Given the description of an element on the screen output the (x, y) to click on. 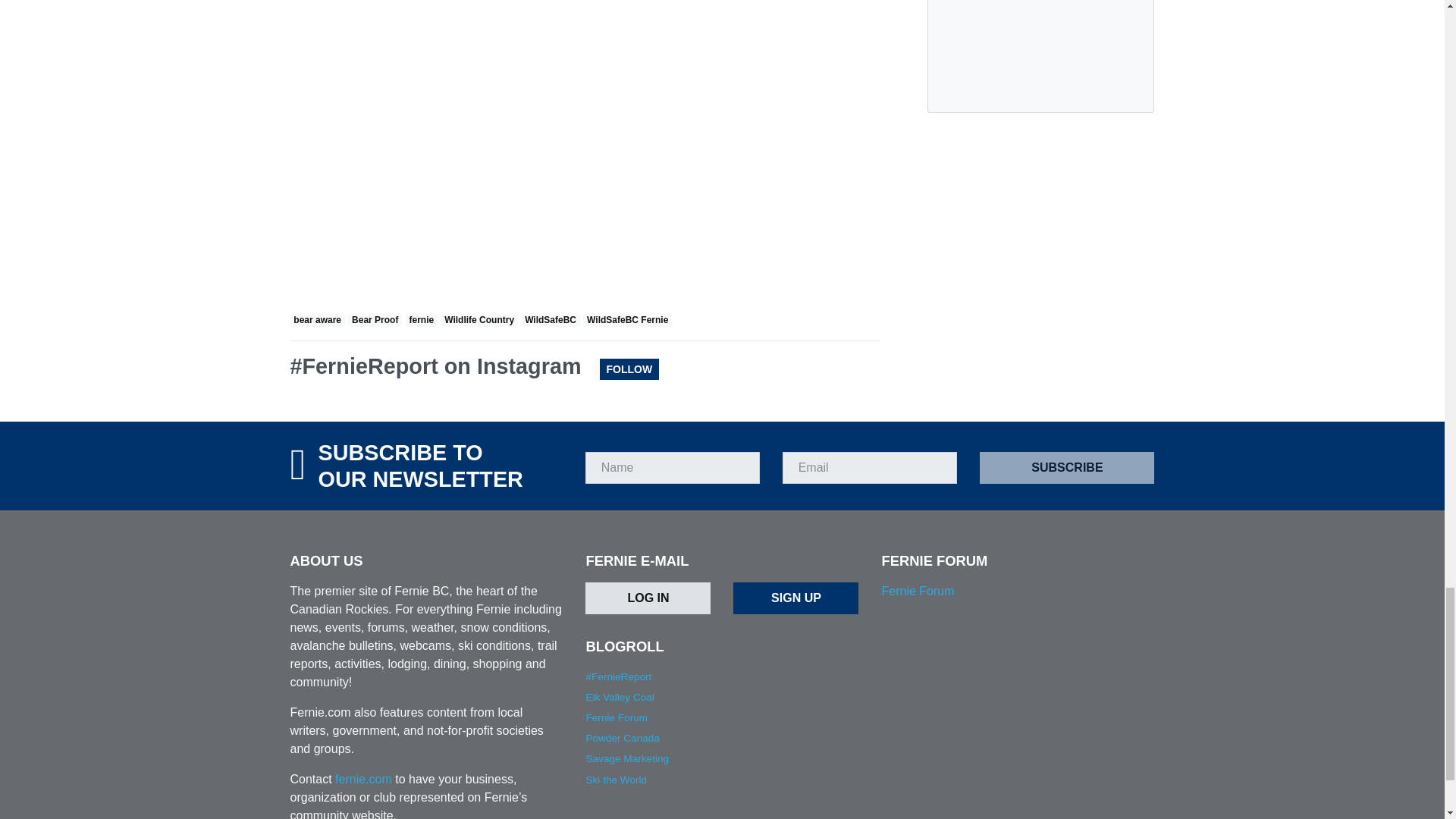
Subscribe (1066, 468)
Social media posts on everything Fernie. (617, 676)
Savage Markerting is based in Fernie BC (626, 758)
